Given the description of an element on the screen output the (x, y) to click on. 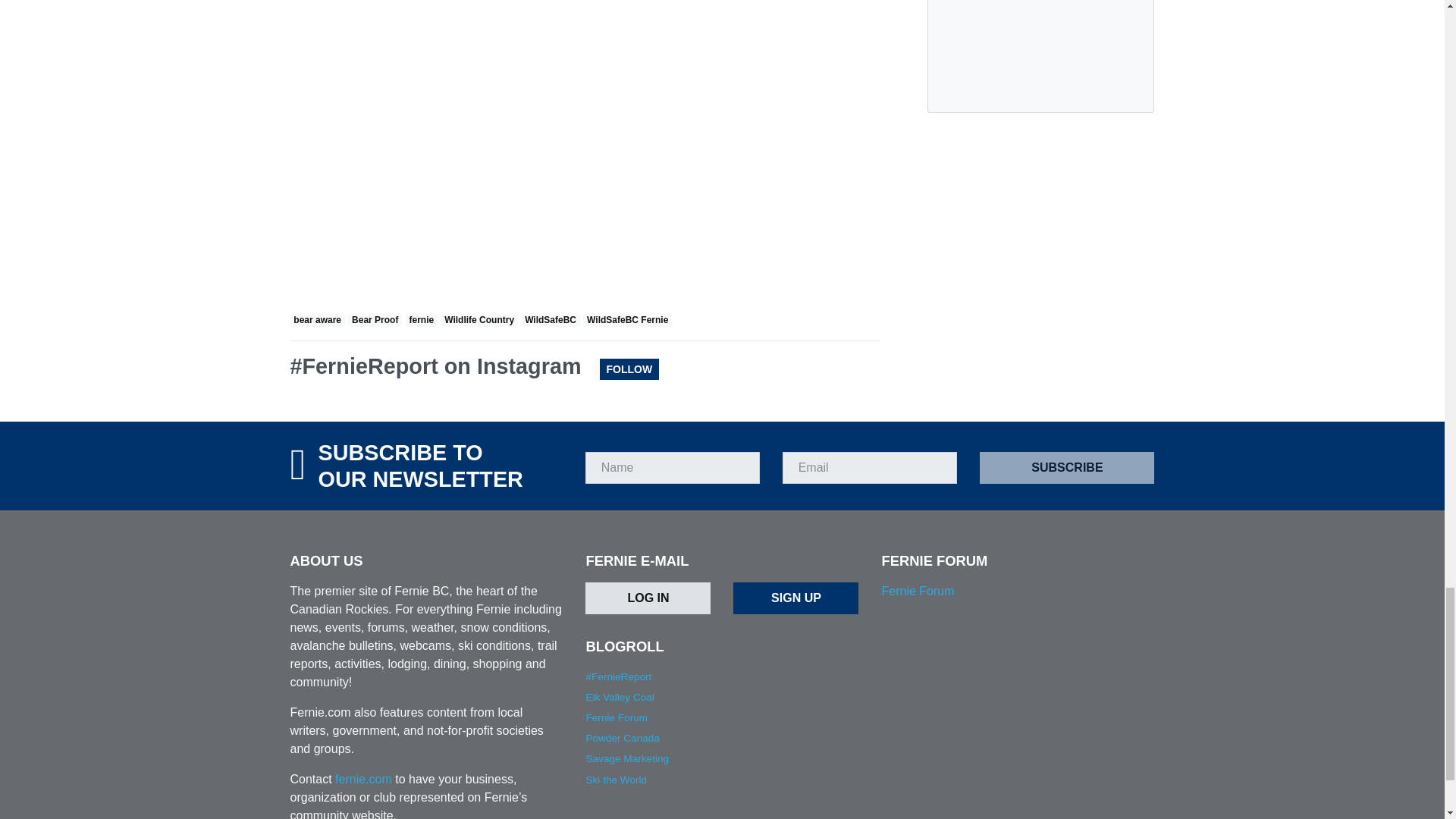
Subscribe (1066, 468)
Social media posts on everything Fernie. (617, 676)
Savage Markerting is based in Fernie BC (626, 758)
